Given the description of an element on the screen output the (x, y) to click on. 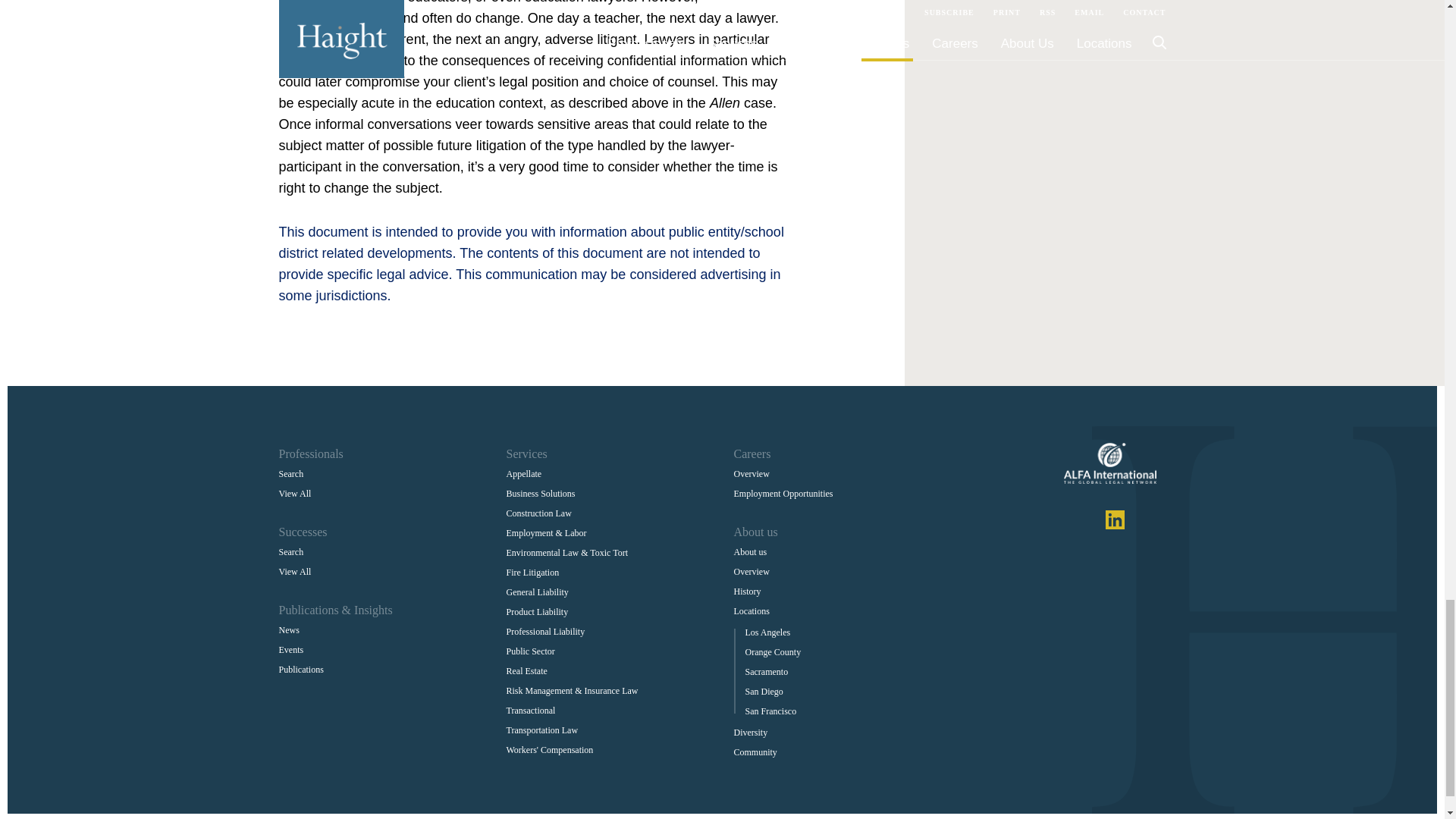
Public Sector (530, 651)
Fire Litigation (532, 572)
General Liability (537, 592)
Professional Liability (545, 631)
Product Liability (537, 612)
Real Estate (526, 671)
Business Solutions (540, 493)
Search (291, 473)
Construction Law (539, 512)
Appellate (523, 473)
